Given the description of an element on the screen output the (x, y) to click on. 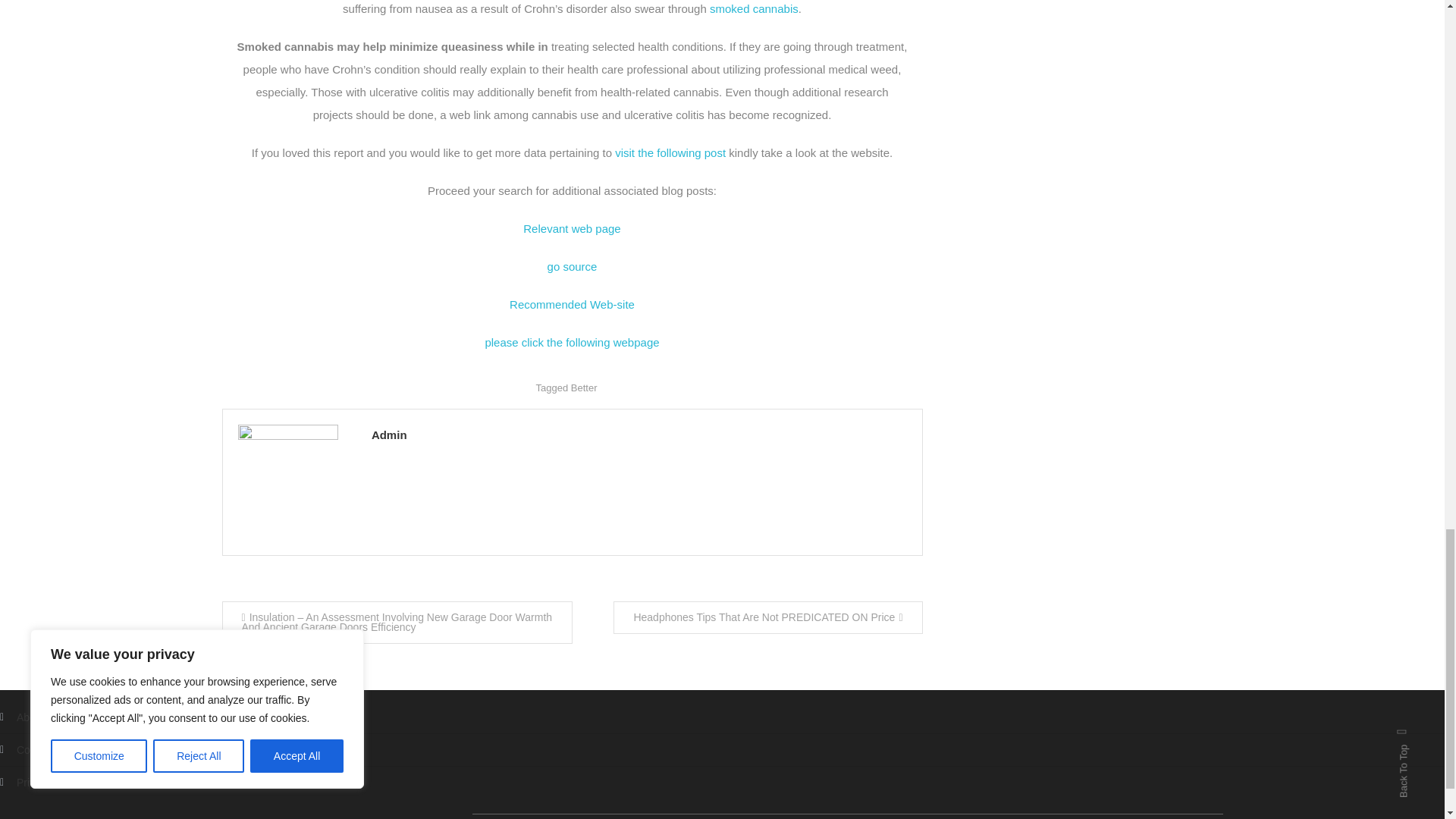
Relevant web page (571, 228)
smoked cannabis (753, 8)
please click the following webpage (571, 341)
Admin (639, 435)
Headphones Tips That Are Not PREDICATED ON Price (766, 617)
Better (583, 387)
visit the following post (669, 152)
Recommended Web-site (571, 304)
go source (571, 266)
